Given the description of an element on the screen output the (x, y) to click on. 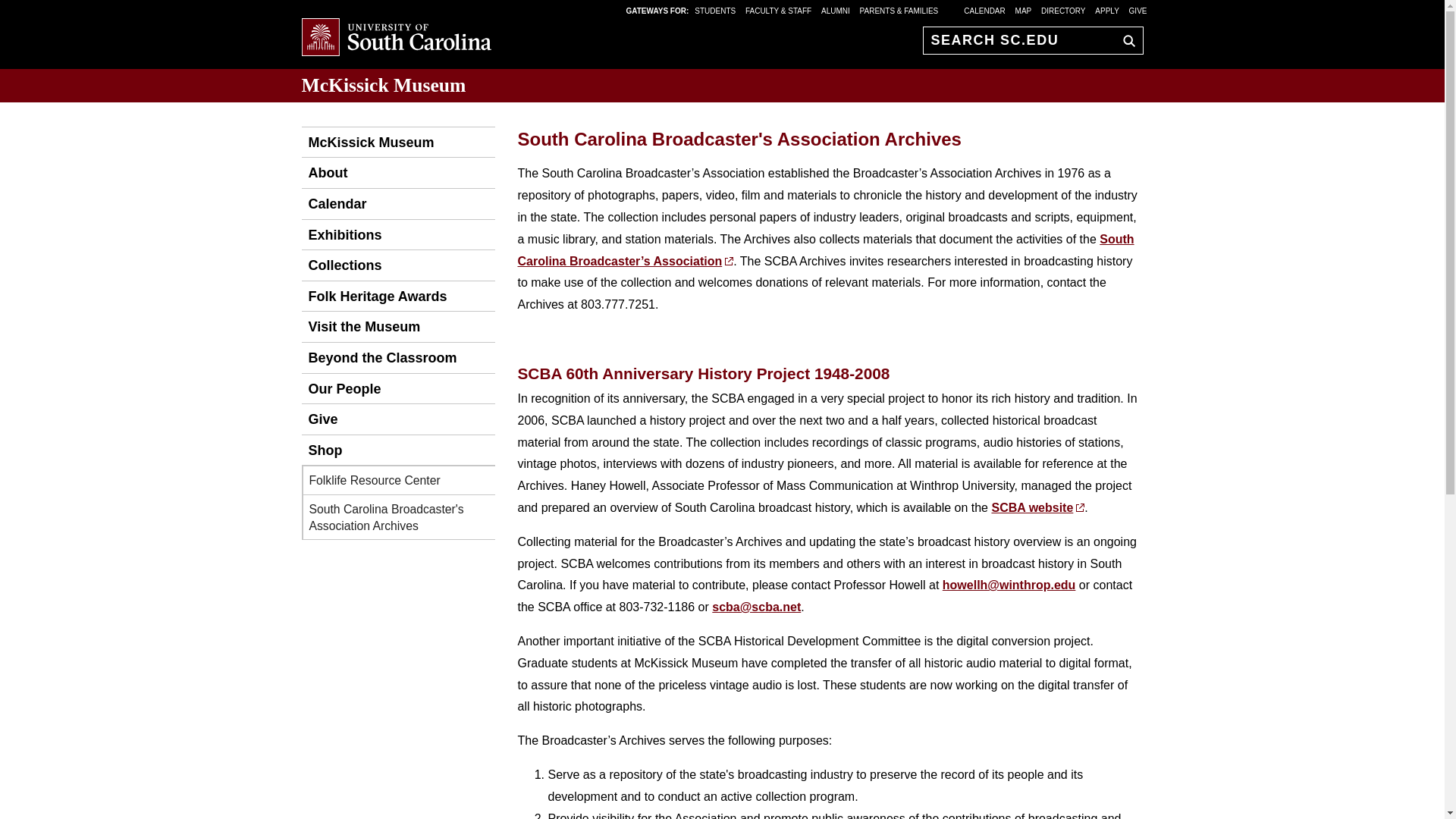
APPLY (1106, 9)
Our Faculty and Staff (341, 388)
University of South Carolina Home (396, 38)
STUDENTS (716, 9)
ALUMNI (835, 9)
CALENDAR (983, 9)
GIVE (1138, 9)
MAP (1023, 9)
GO (1125, 40)
sc.edu Search (1125, 40)
